Given the description of an element on the screen output the (x, y) to click on. 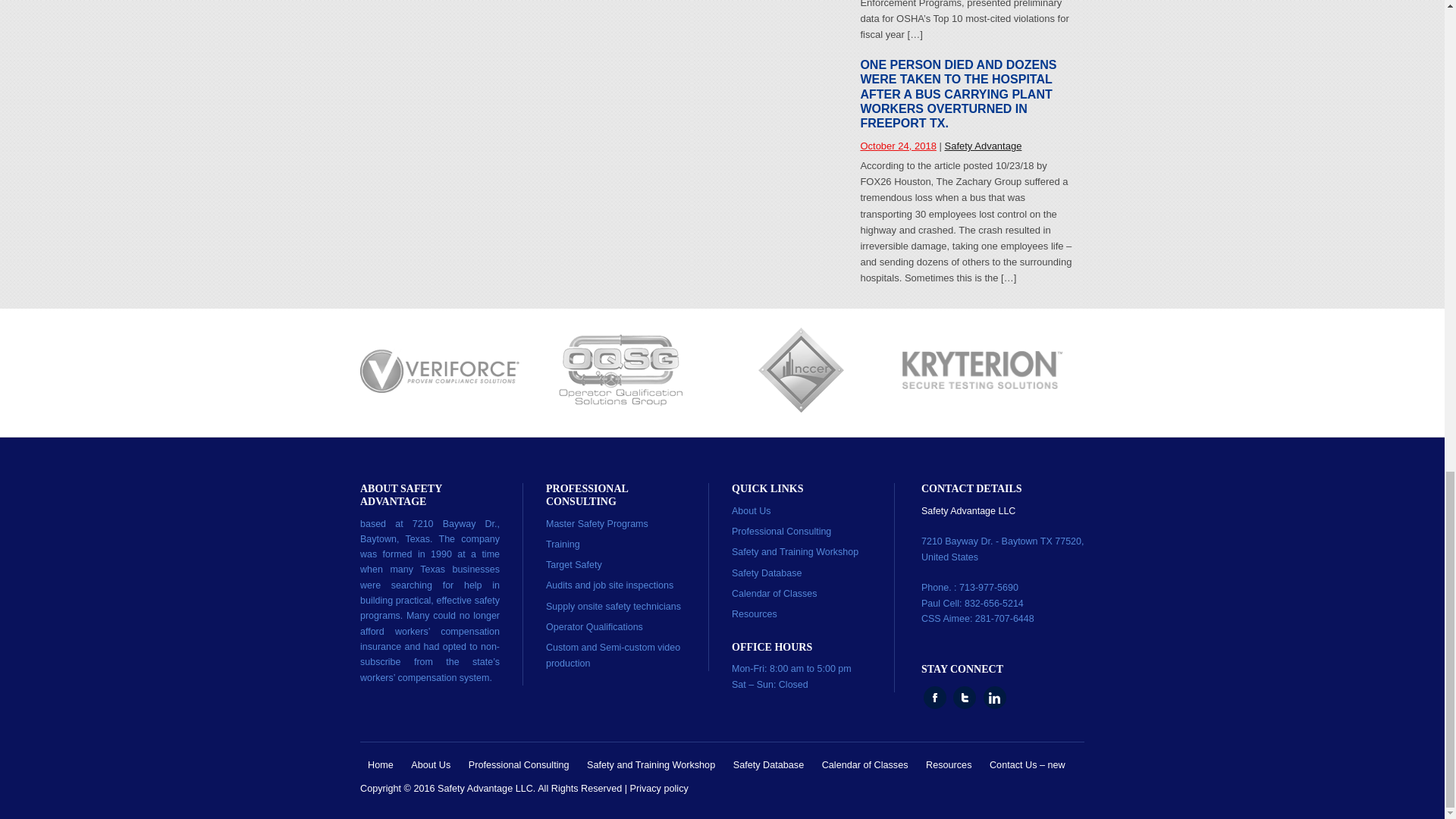
Safety Advantage (982, 145)
Master Safety Programs (596, 523)
Target Safety (574, 564)
Supply onsite safety technicians (613, 606)
Audits and job site inspections (609, 584)
Operator Qualifications (594, 626)
Training (562, 543)
Custom and Semi-custom video production (612, 655)
